Given the description of an element on the screen output the (x, y) to click on. 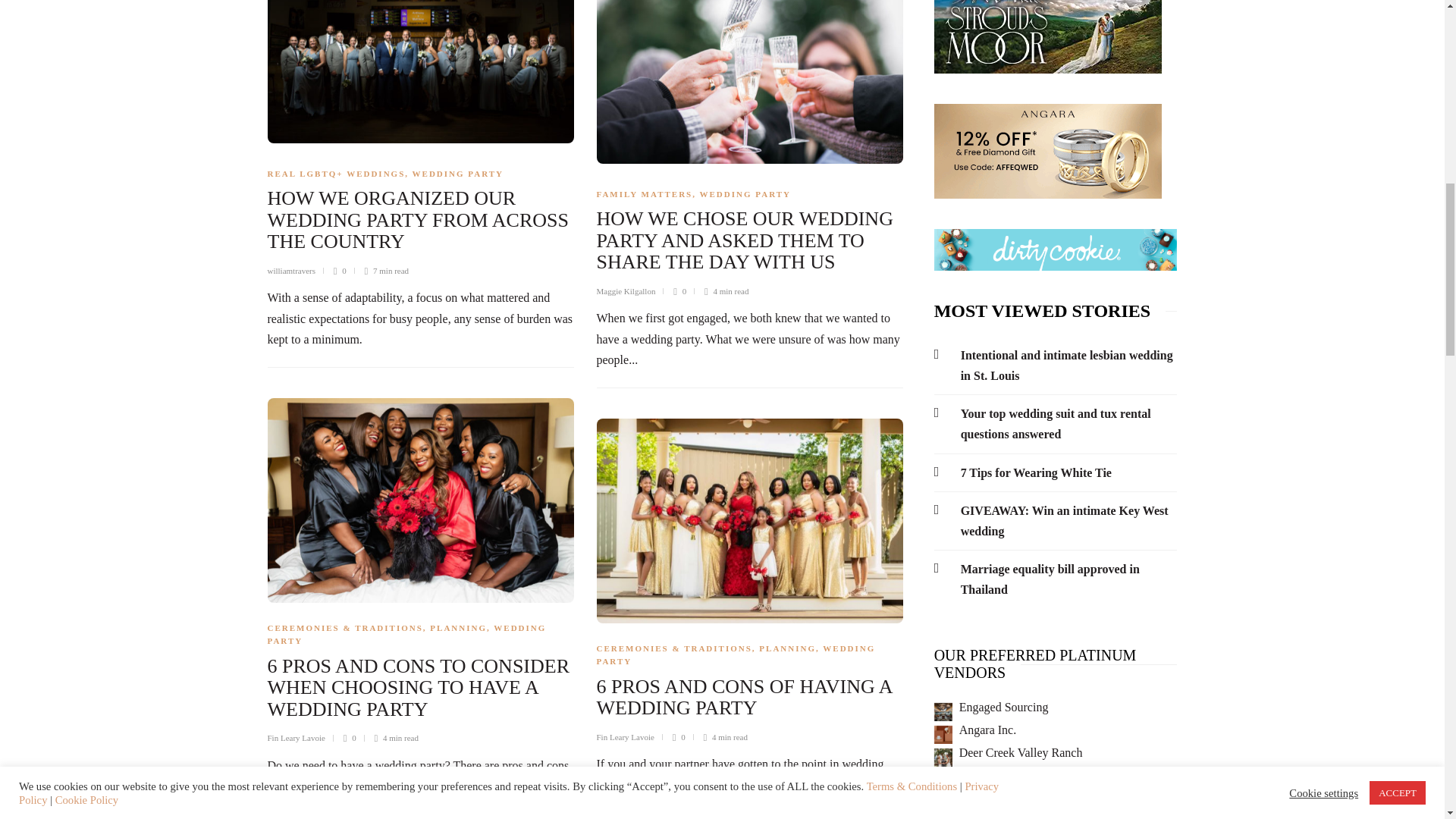
Fresh Studio LLC (1002, 797)
Engaged Sourcing (1003, 707)
Harvey House (994, 775)
Barton G. Events (1001, 816)
Maven Hotel (943, 711)
Deer Creek Valley Ranch (1021, 752)
Angara Inc. (987, 729)
custom - hh featured -07.jpg (943, 780)
